Given the description of an element on the screen output the (x, y) to click on. 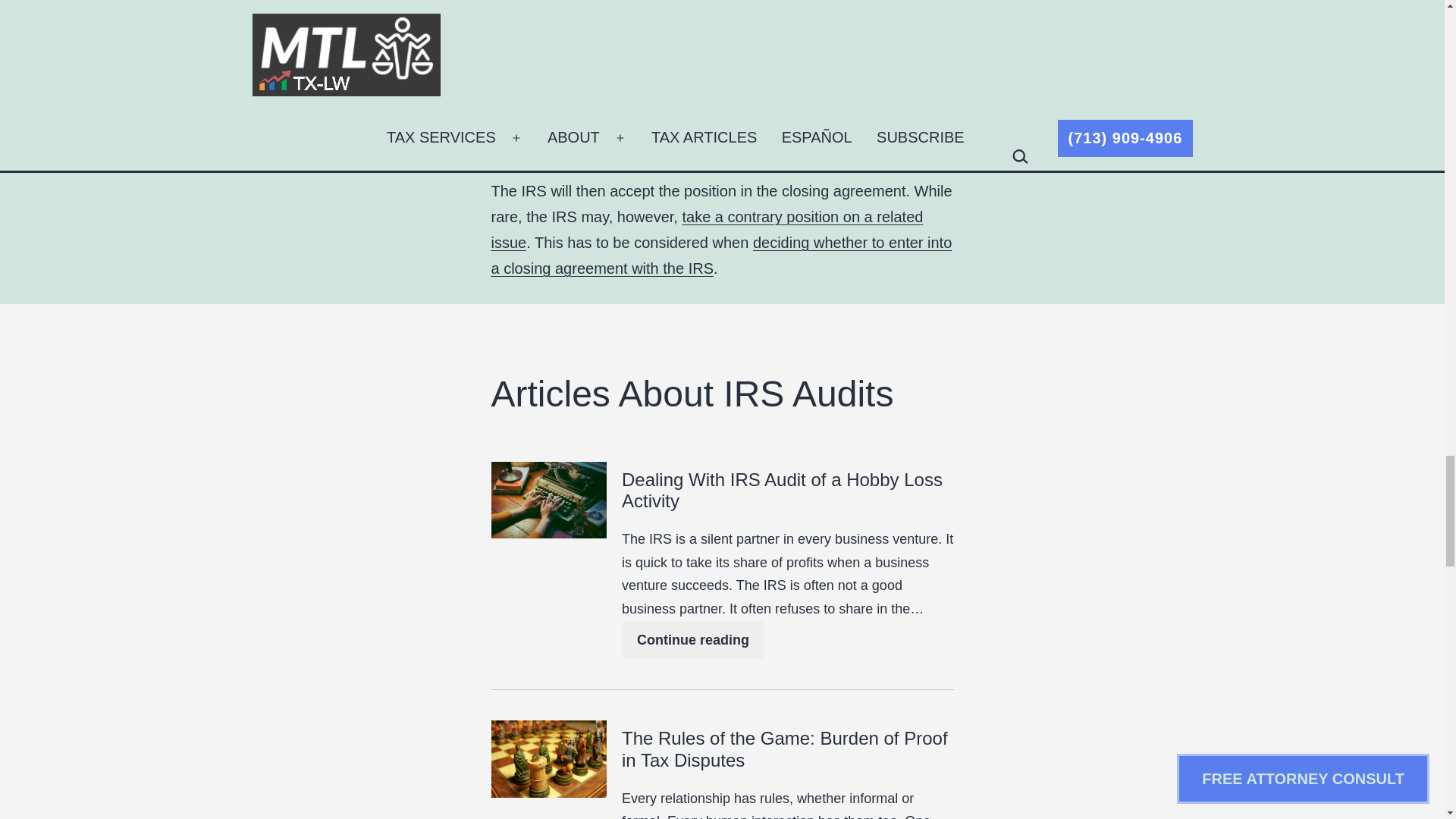
Dealing With IRS Audit of a Hobby Loss Activity (787, 491)
take a contrary position on a related issue (707, 229)
The Rules of the Game: Burden of Proof in Tax Disputes (787, 750)
